Given the description of an element on the screen output the (x, y) to click on. 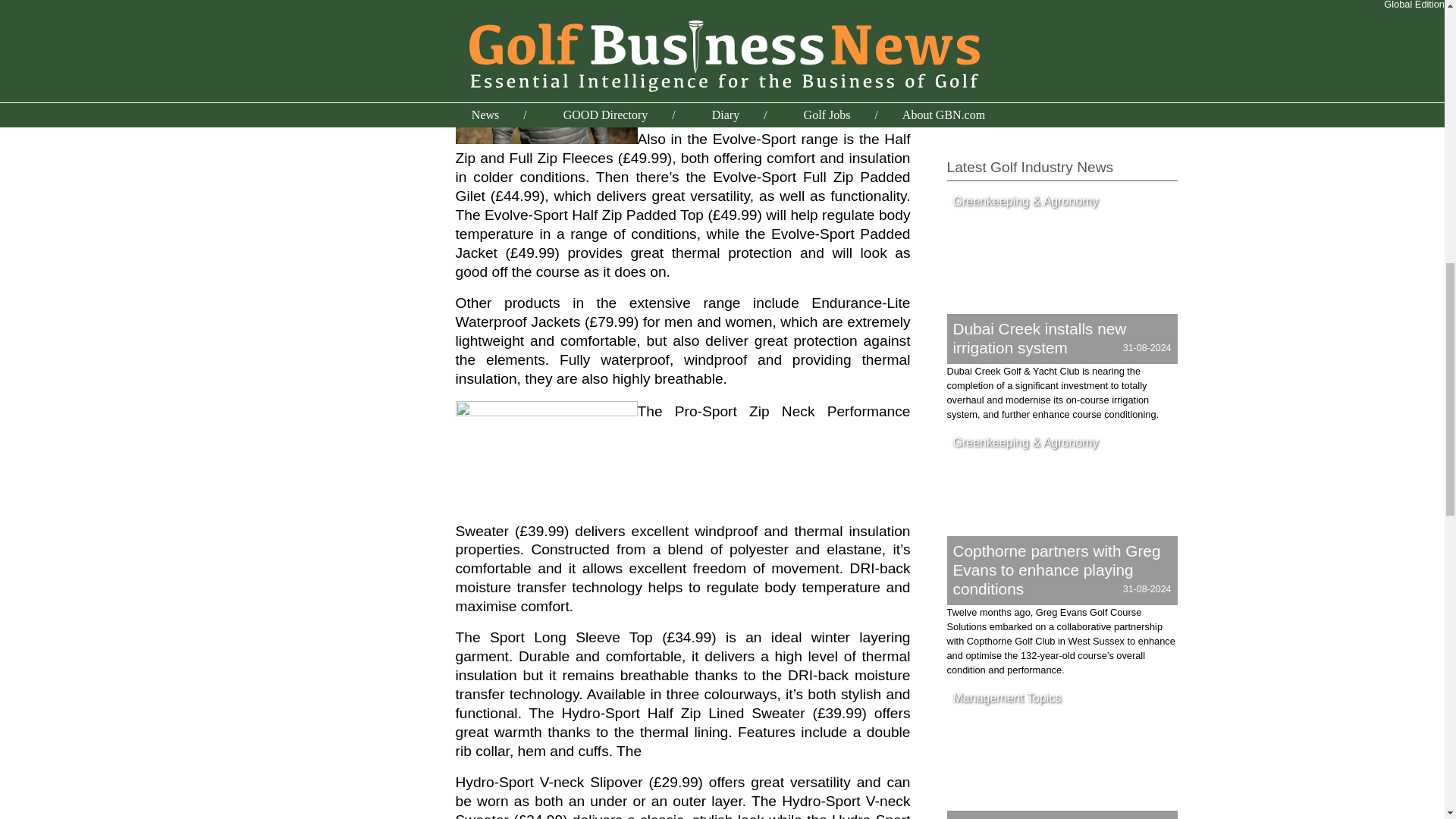
Syngenta (973, 74)
ZEN GREEN STAGE (1003, 110)
Management Topics (1006, 697)
Seventy2 Golf (986, 7)
Simon Gidman Golf Course Architects (1056, 25)
